Given the description of an element on the screen output the (x, y) to click on. 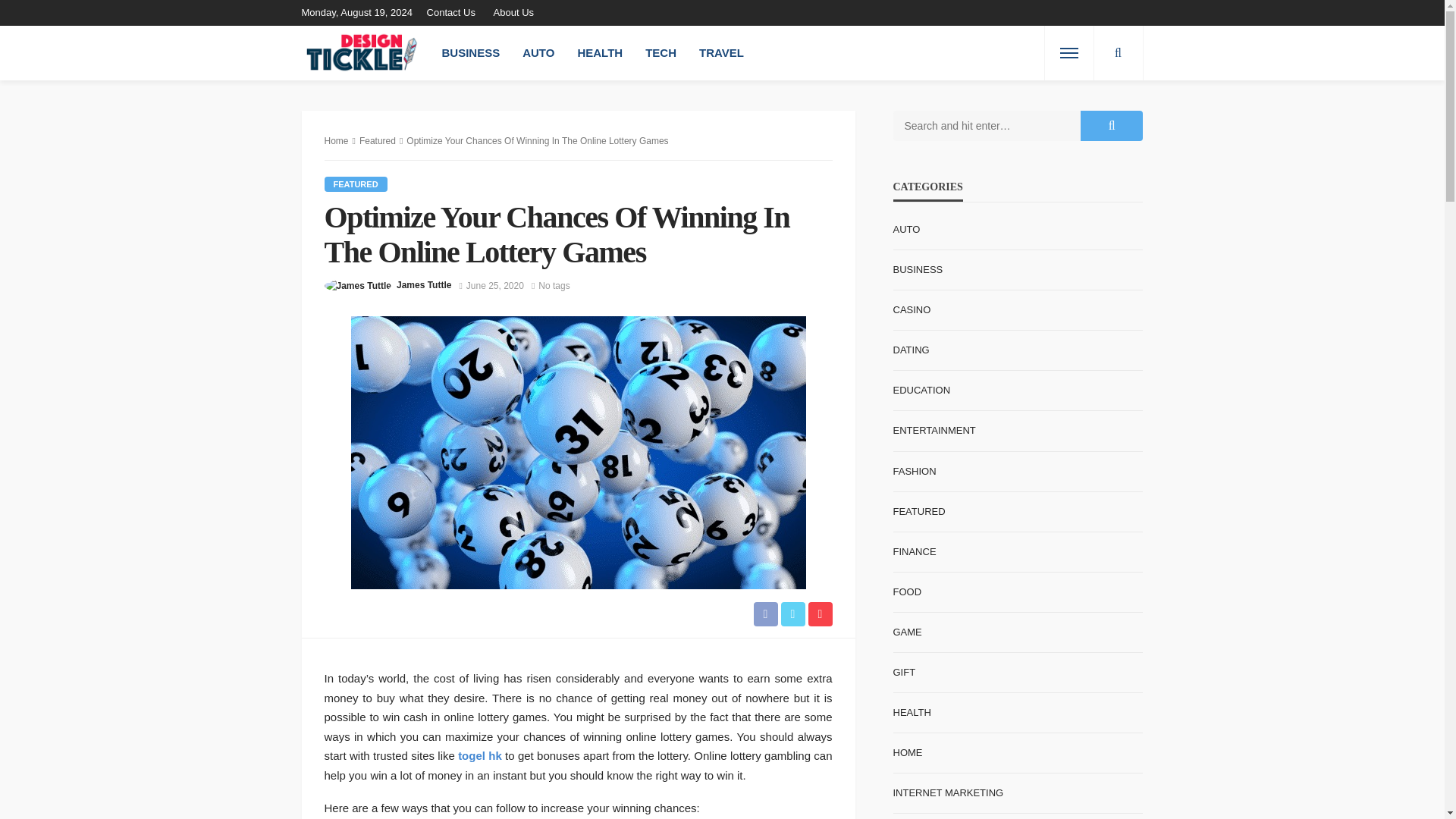
TRAVEL (721, 52)
togel hk (480, 755)
design tickle (362, 52)
FEATURED (355, 183)
Featured (355, 183)
TECH (660, 52)
About Us (513, 12)
BUSINESS (471, 52)
Contact Us (454, 12)
AUTO (538, 52)
